Given the description of an element on the screen output the (x, y) to click on. 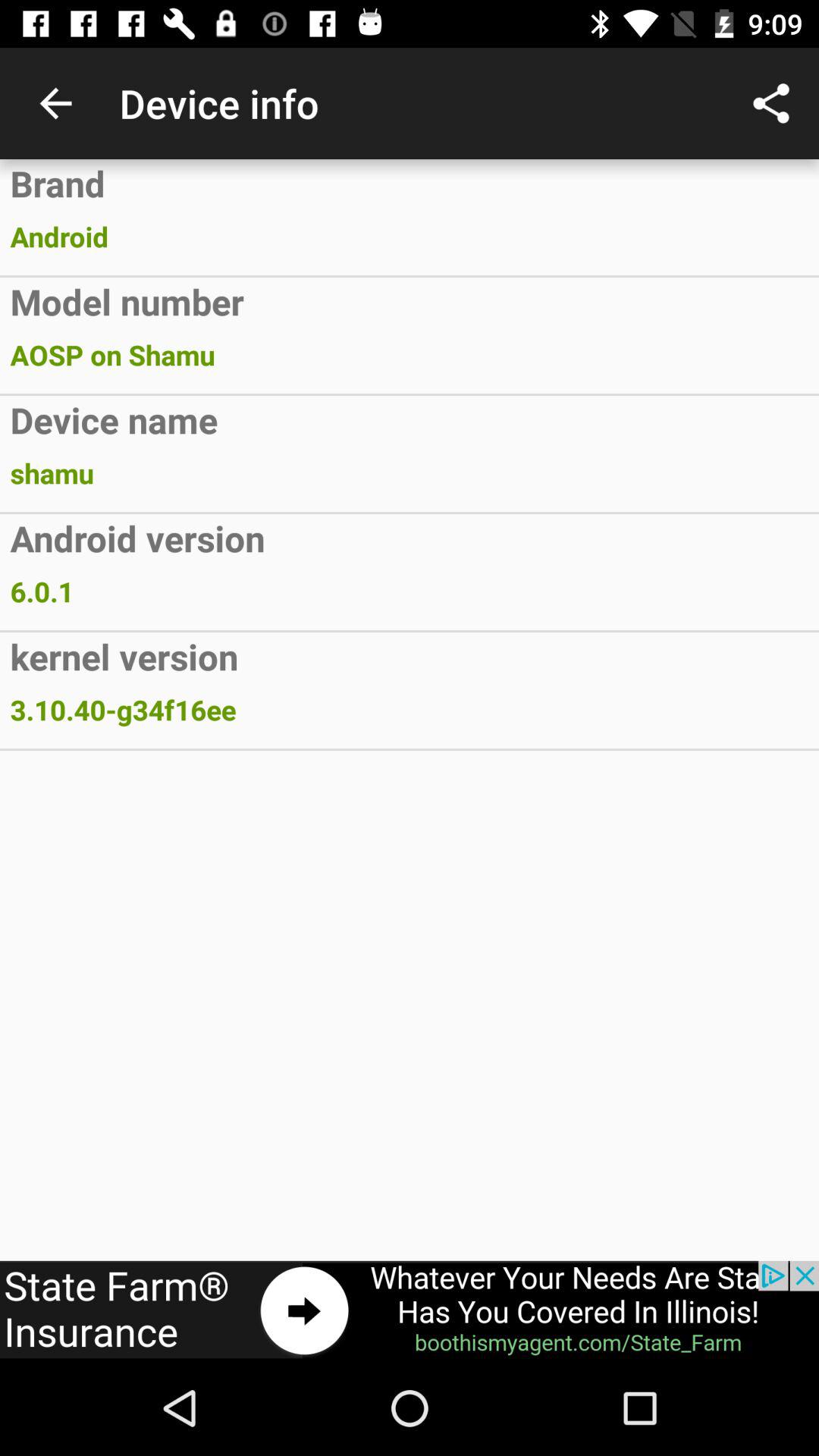
go to advertisement website (409, 1310)
